Given the description of an element on the screen output the (x, y) to click on. 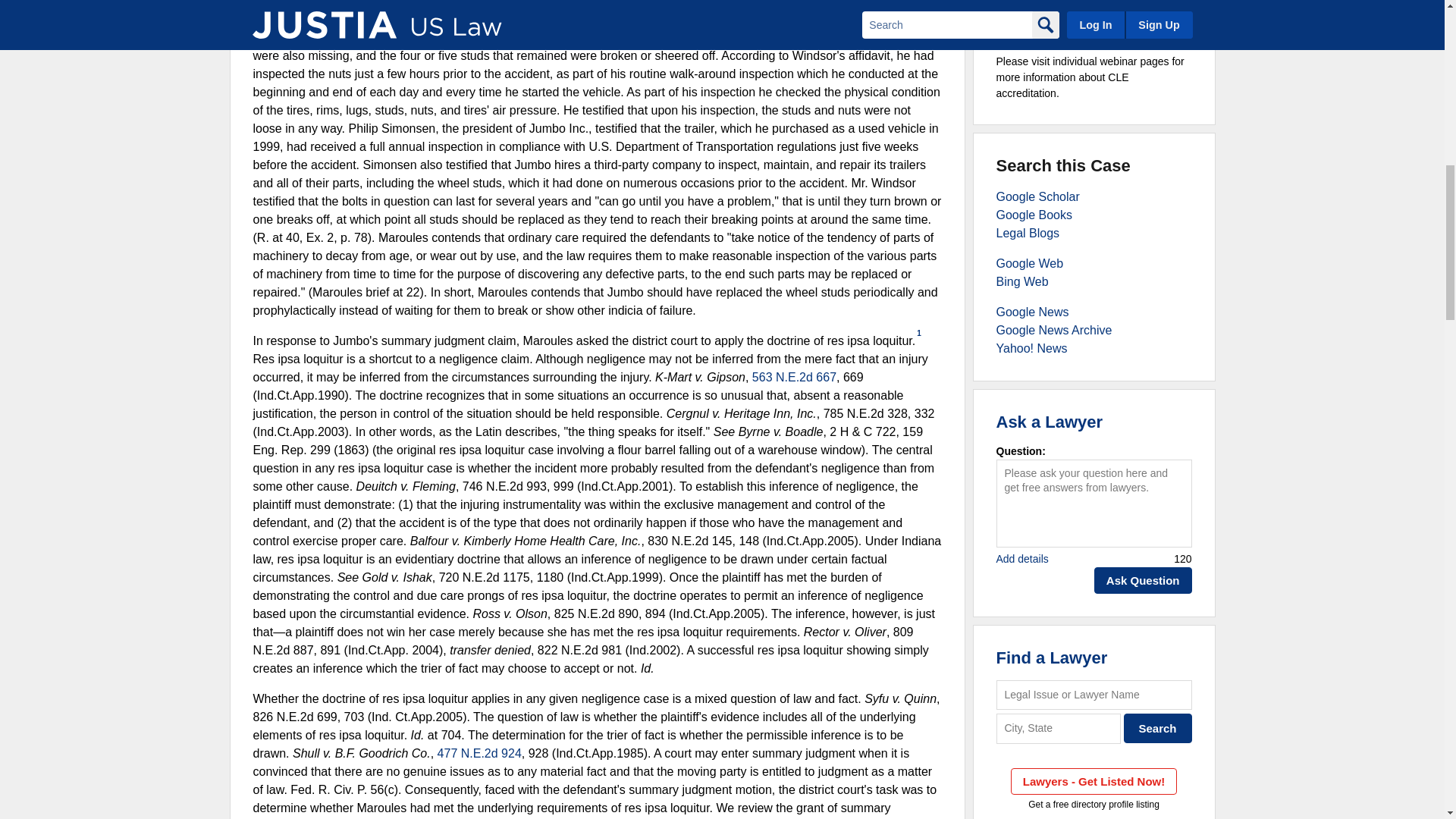
Law - Bing Web (1021, 281)
Search (1158, 727)
Law - Legal Blogs (1027, 232)
Law - Google Scholar (1037, 196)
Law - Google News Archive (1053, 329)
477 N.E.2d 924 (479, 753)
563 N.E.2d 667 (793, 377)
Law - Yahoo! News (1031, 348)
City, State (1058, 727)
Legal Issue or Lawyer Name (1093, 695)
Law - Google Books (1034, 214)
Law - Google Web (1029, 263)
Search (1158, 727)
Law - Google News (1031, 311)
